Given the description of an element on the screen output the (x, y) to click on. 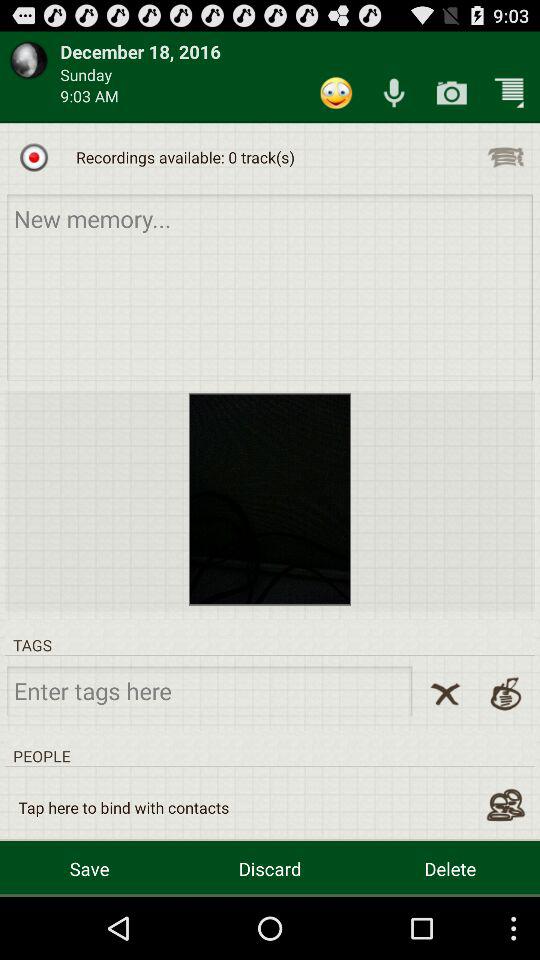
press the icon next to recordings available 0 icon (34, 157)
